Given the description of an element on the screen output the (x, y) to click on. 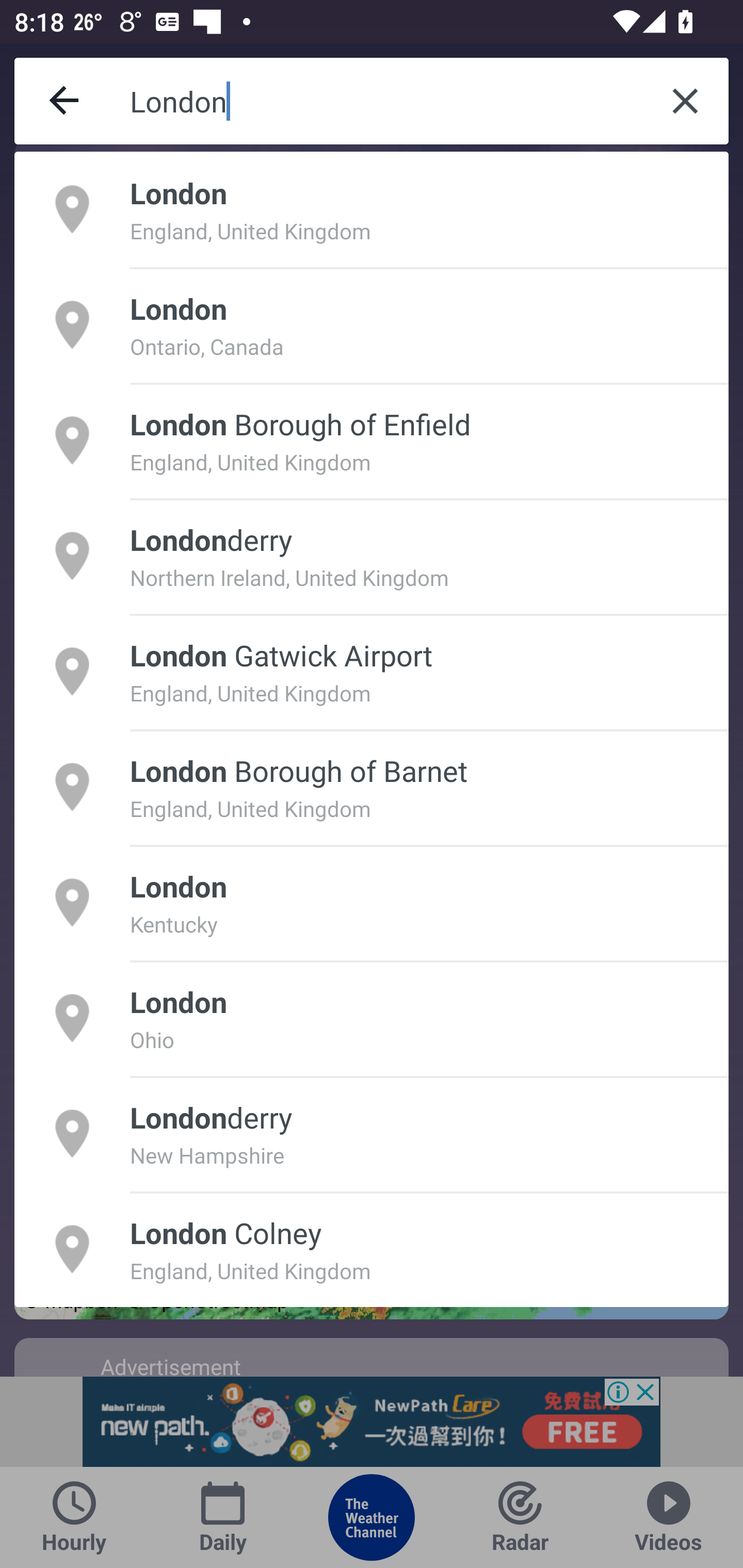
Back (64, 101)
Clear (684, 101)
London (385, 100)
London England, United Kingdom (371, 209)
London Ontario, Canada (371, 324)
London Borough of Enfield England, United Kingdom (371, 440)
Londonderry Northern Ireland, United Kingdom (371, 555)
London Gatwick Airport England, United Kingdom (371, 671)
London Borough of Barnet England, United Kingdom (371, 787)
London Kentucky (371, 902)
London Ohio (371, 1017)
Londonderry New Hampshire (371, 1133)
London Colney England, United Kingdom (371, 1249)
